Given the description of an element on the screen output the (x, y) to click on. 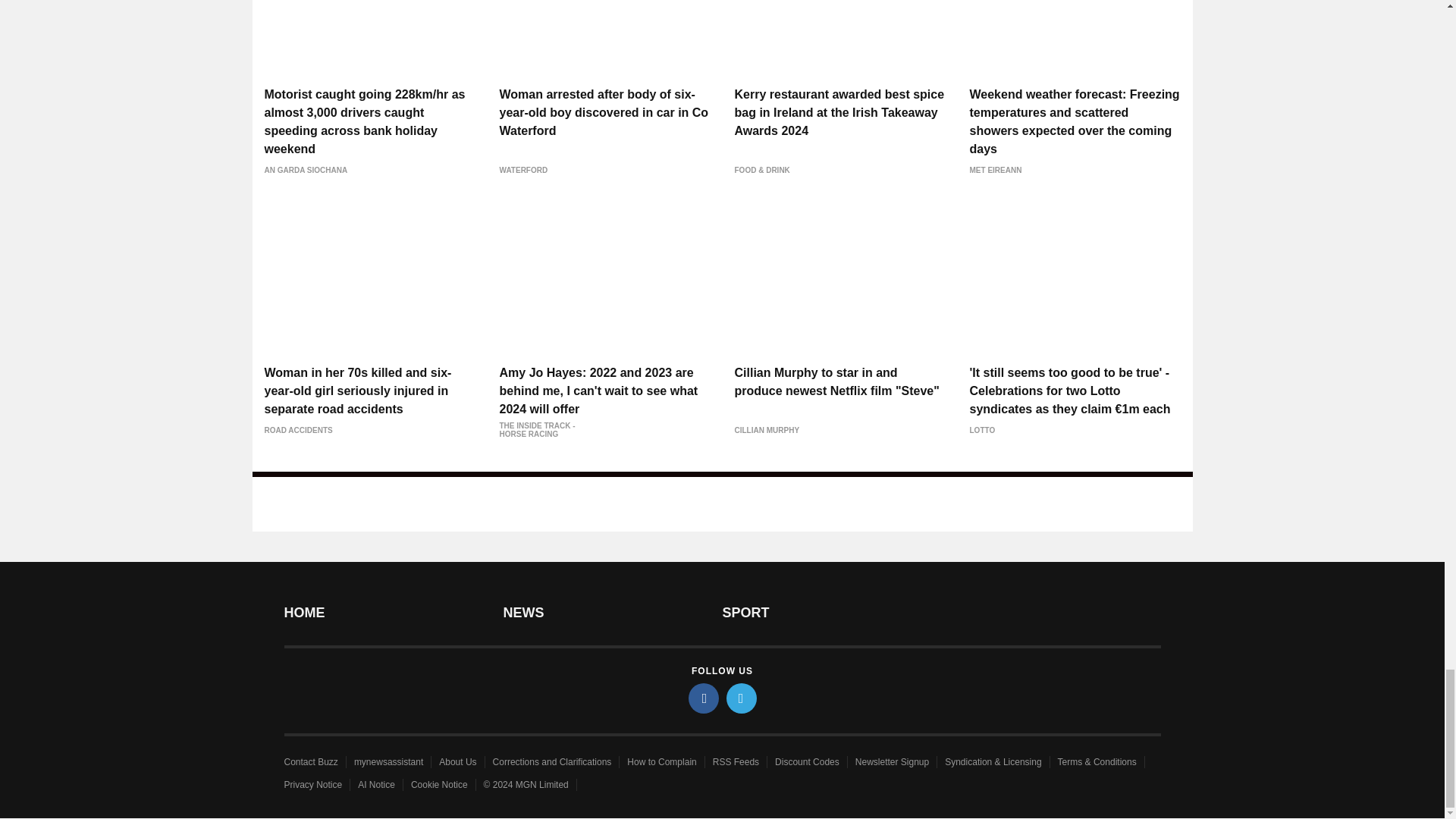
twitter (741, 698)
facebook (703, 698)
